Given the description of an element on the screen output the (x, y) to click on. 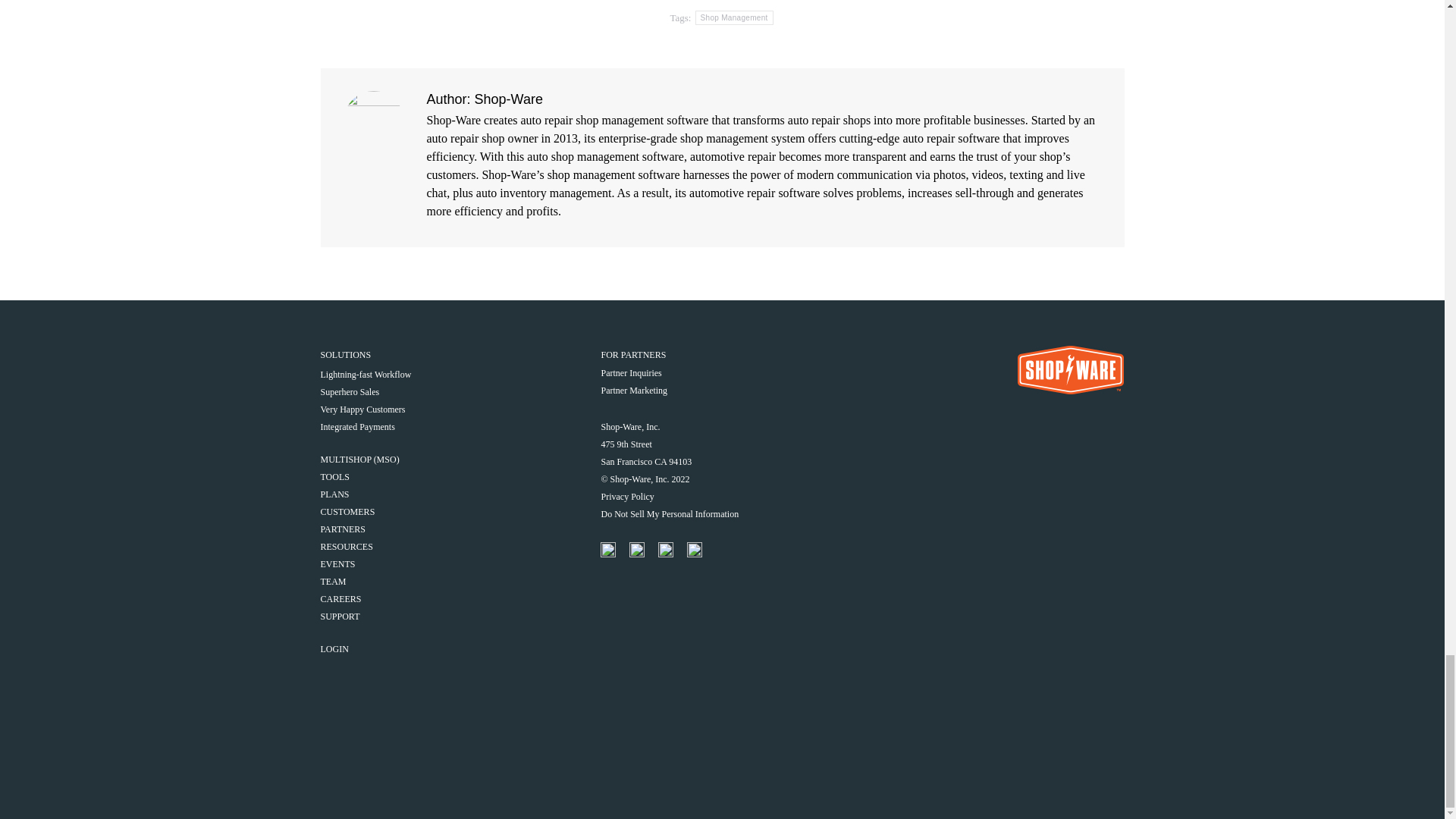
View all posts by Shop-Ware (764, 0)
